Given the description of an element on the screen output the (x, y) to click on. 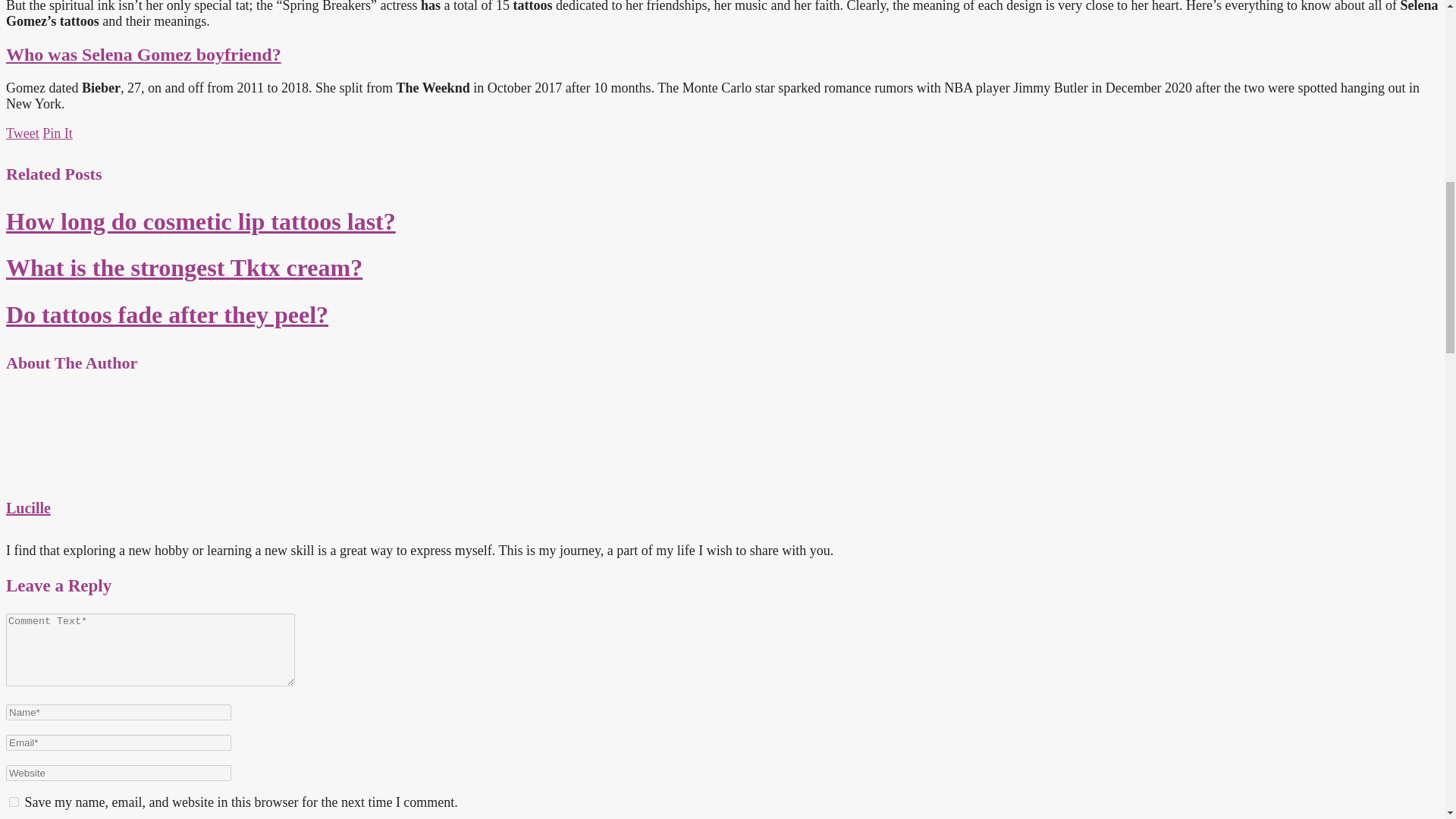
How long do cosmetic lip tattoos last? (200, 221)
What is the strongest Tktx cream? (183, 267)
Lucille (27, 507)
Who was Selena Gomez boyfriend? (143, 54)
Do tattoos fade after they peel? (167, 314)
How long do cosmetic lip tattoos last? (200, 221)
Pin It (57, 133)
yes (13, 801)
Who was Selena Gomez boyfriend? (143, 54)
Tweet (22, 133)
Do tattoos fade after they peel? (167, 314)
What is the strongest Tktx cream? (183, 267)
